Given the description of an element on the screen output the (x, y) to click on. 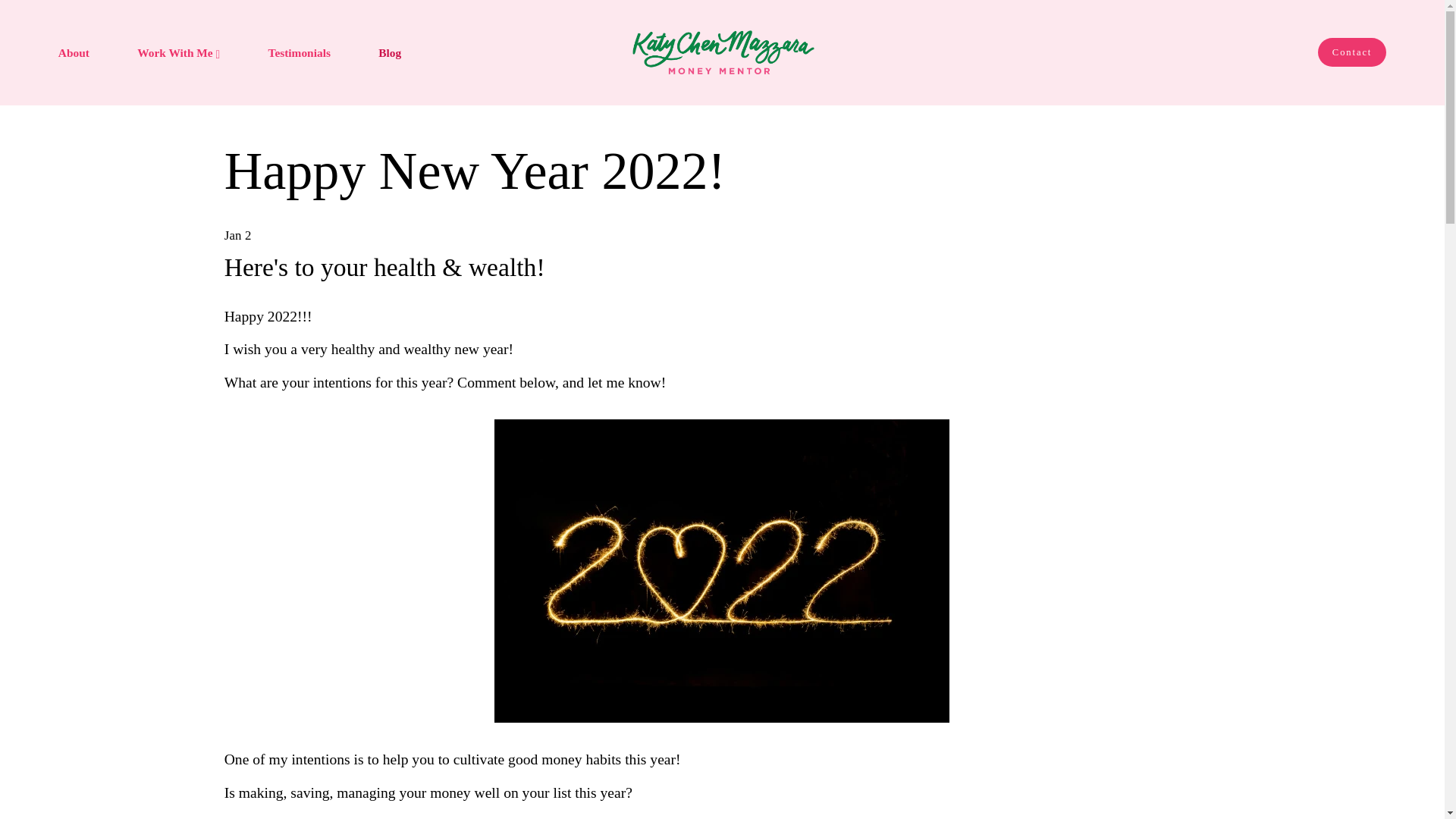
Testimonials (298, 52)
Work With Me (177, 52)
Contact (1351, 51)
About (73, 52)
Blog (389, 52)
